Given the description of an element on the screen output the (x, y) to click on. 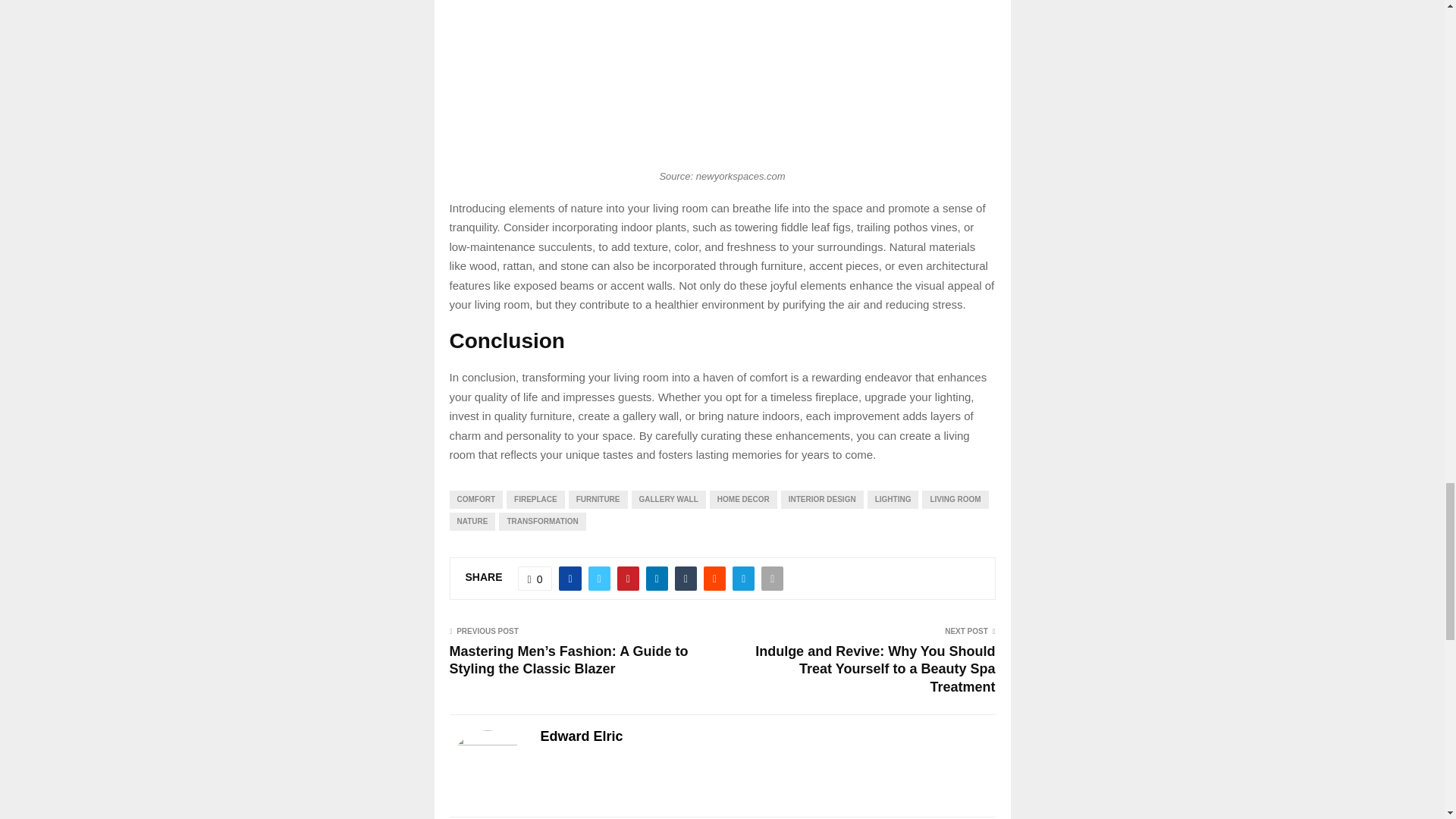
FURNITURE (598, 498)
FIREPLACE (535, 498)
COMFORT (475, 498)
Like (535, 577)
